Given the description of an element on the screen output the (x, y) to click on. 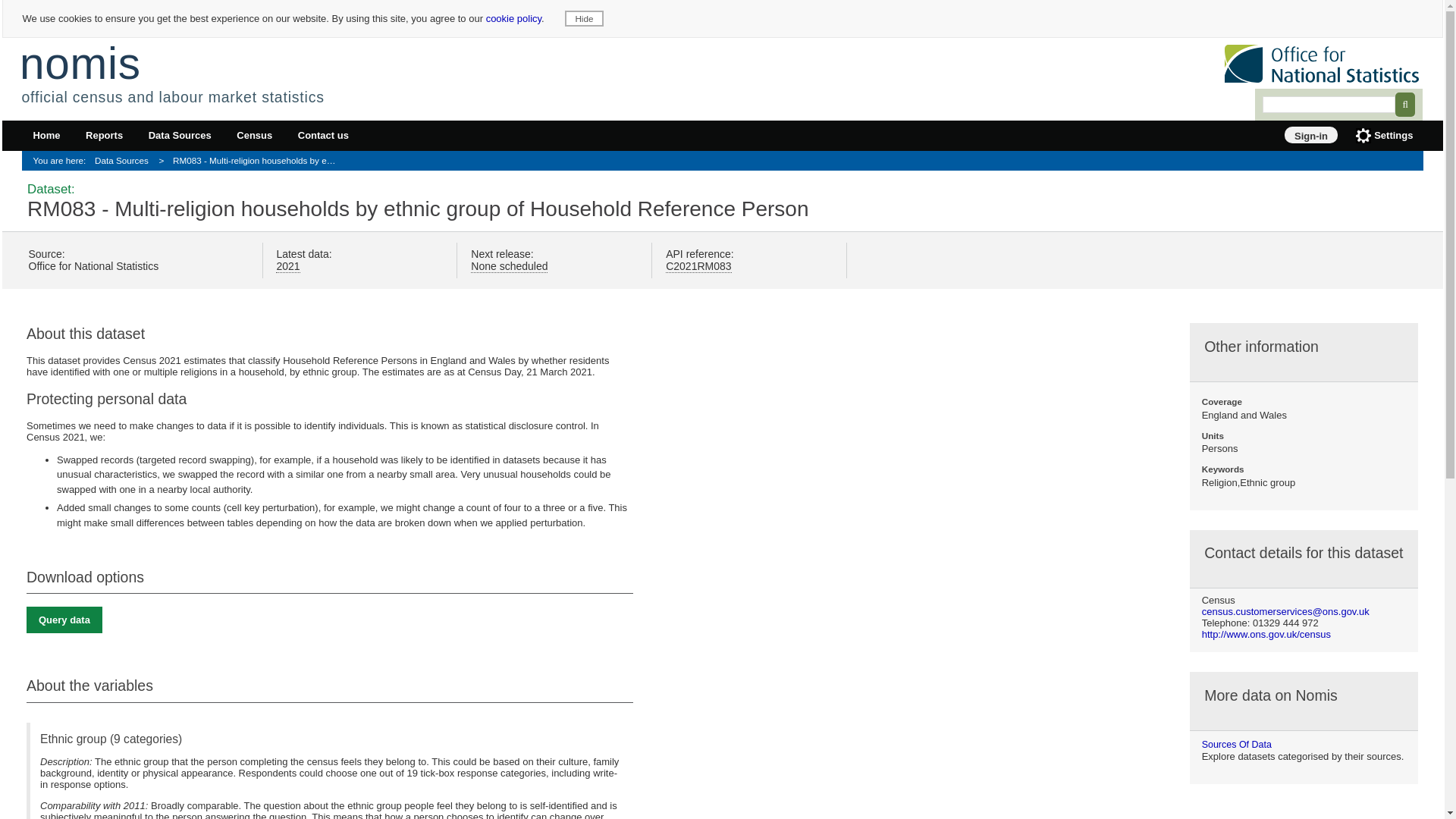
Navigate to Data Sources (93, 160)
Site settings (1383, 136)
Census (254, 135)
Hide (584, 18)
Create a customised download on Nomis (63, 619)
Data Sources (178, 135)
Hide this message about cookies (584, 18)
Read about how cookies are used on the Nomis web site (513, 18)
My account overview (1311, 134)
nomis (80, 62)
cookie policy (513, 18)
Home (46, 135)
Reports (104, 135)
